Given the description of an element on the screen output the (x, y) to click on. 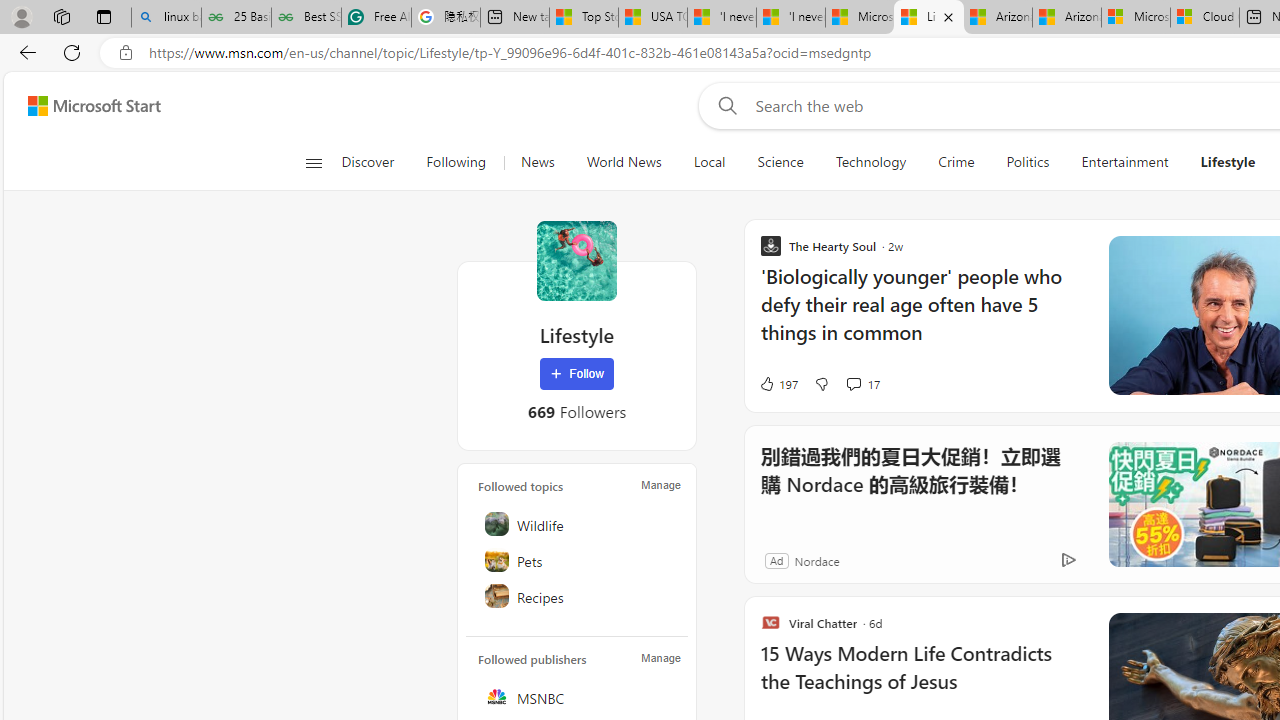
View comments 17 Comment (862, 384)
